Given the description of an element on the screen output the (x, y) to click on. 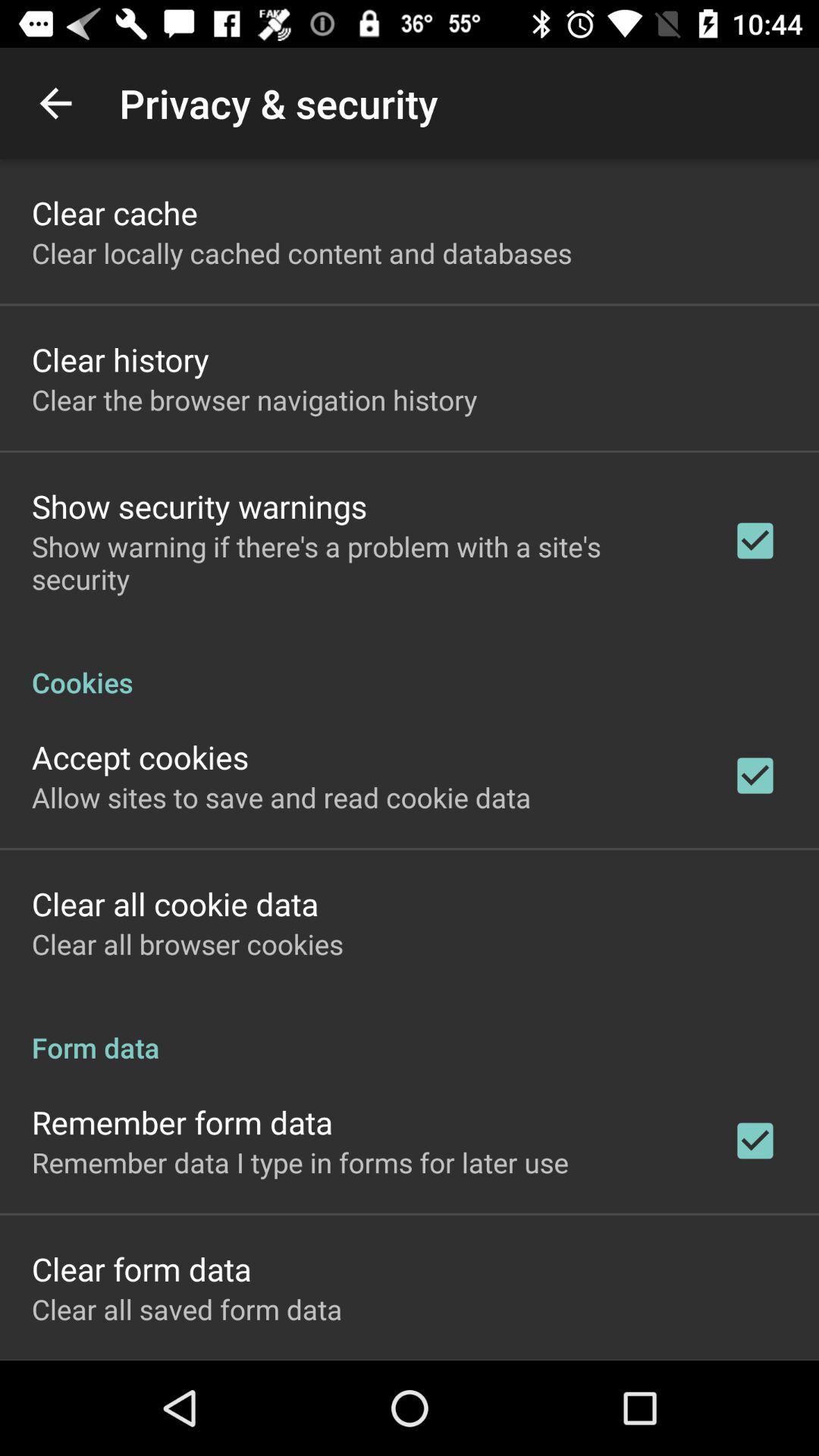
turn on clear locally cached item (301, 252)
